Given the description of an element on the screen output the (x, y) to click on. 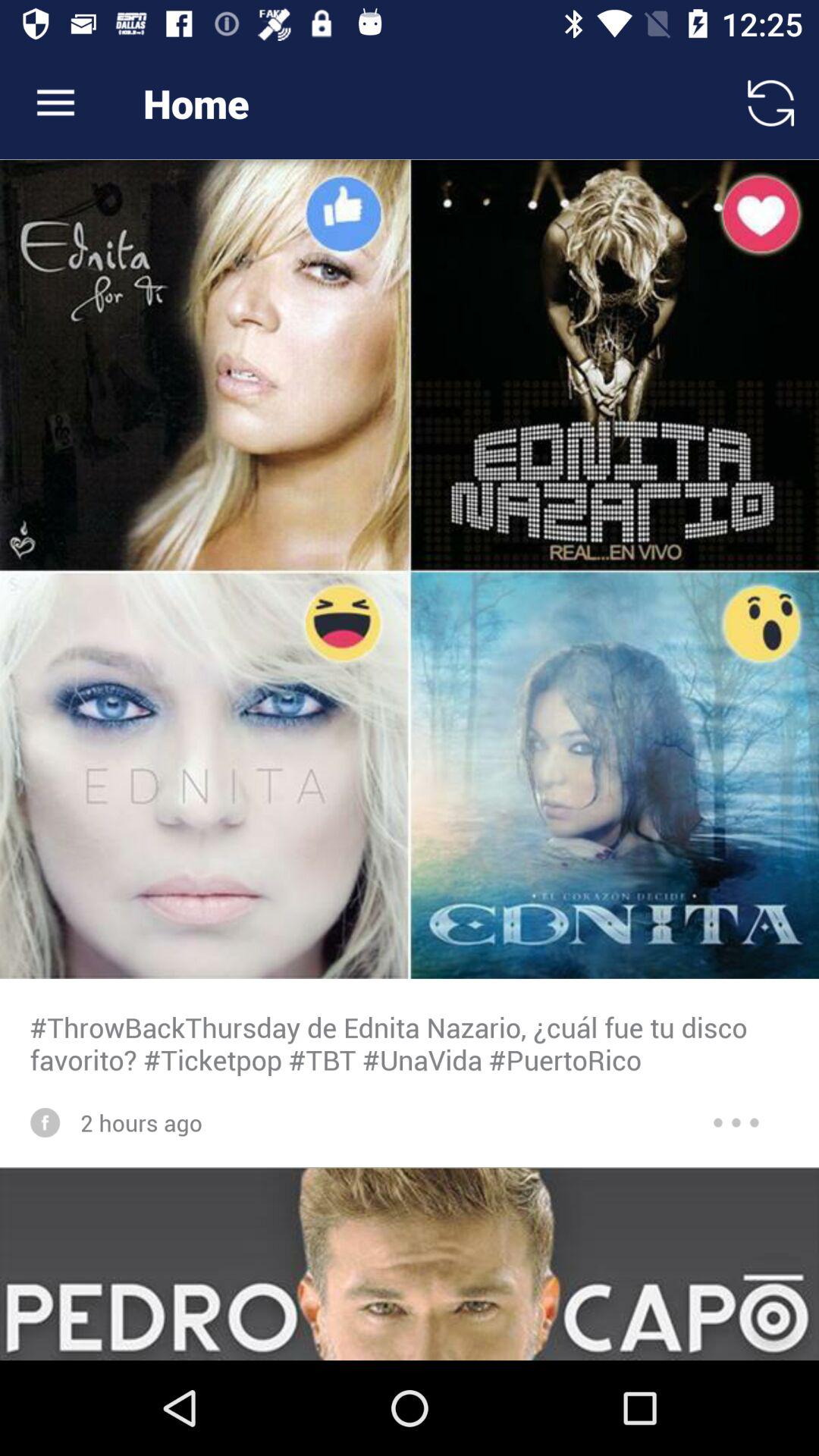
launch item below the throwbackthursday de ednita item (141, 1122)
